Given the description of an element on the screen output the (x, y) to click on. 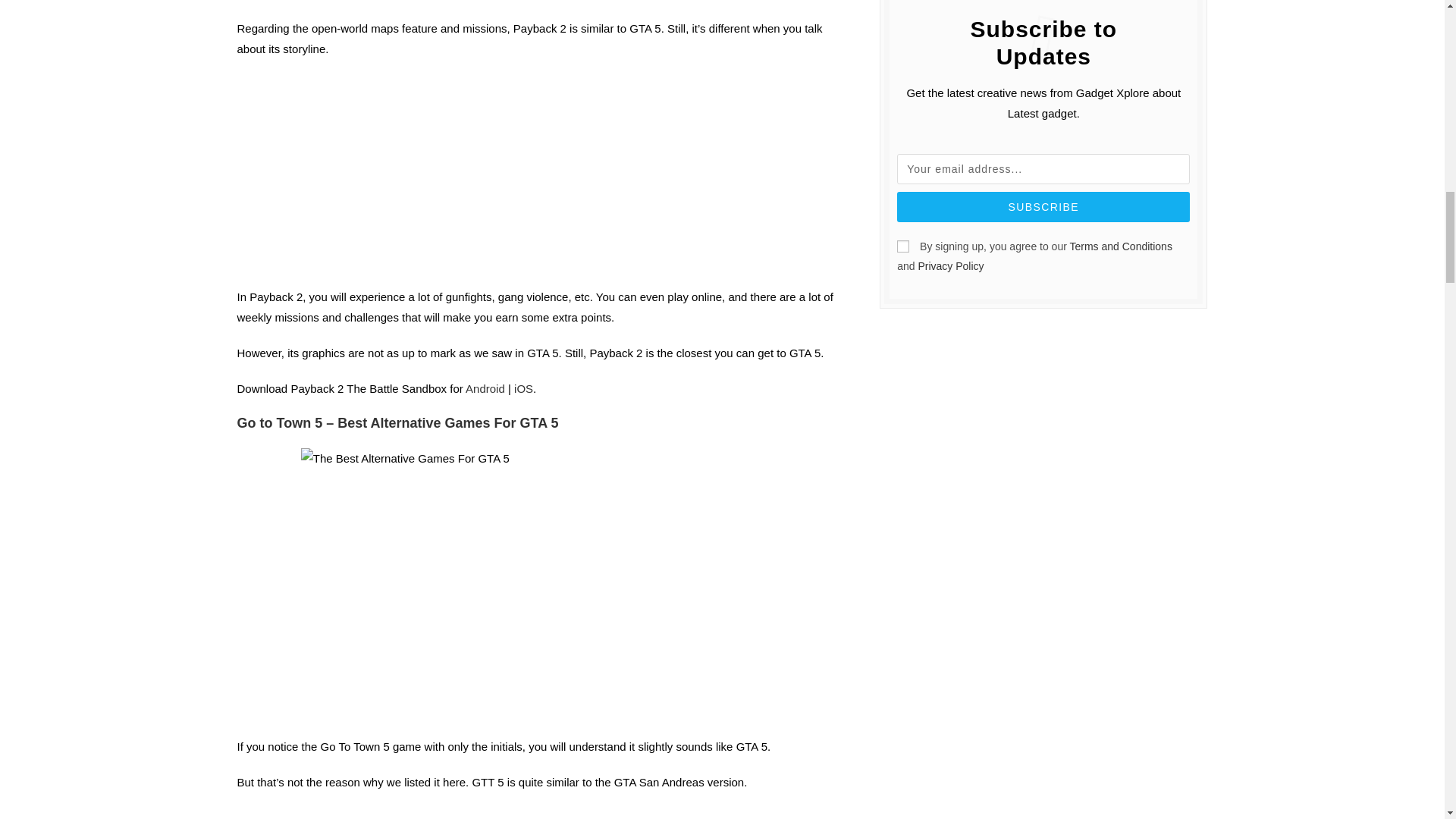
The Best Alternative Games For GTA 5 (543, 584)
on (902, 246)
Advertisement (542, 180)
Advertisement (542, 813)
